Given the description of an element on the screen output the (x, y) to click on. 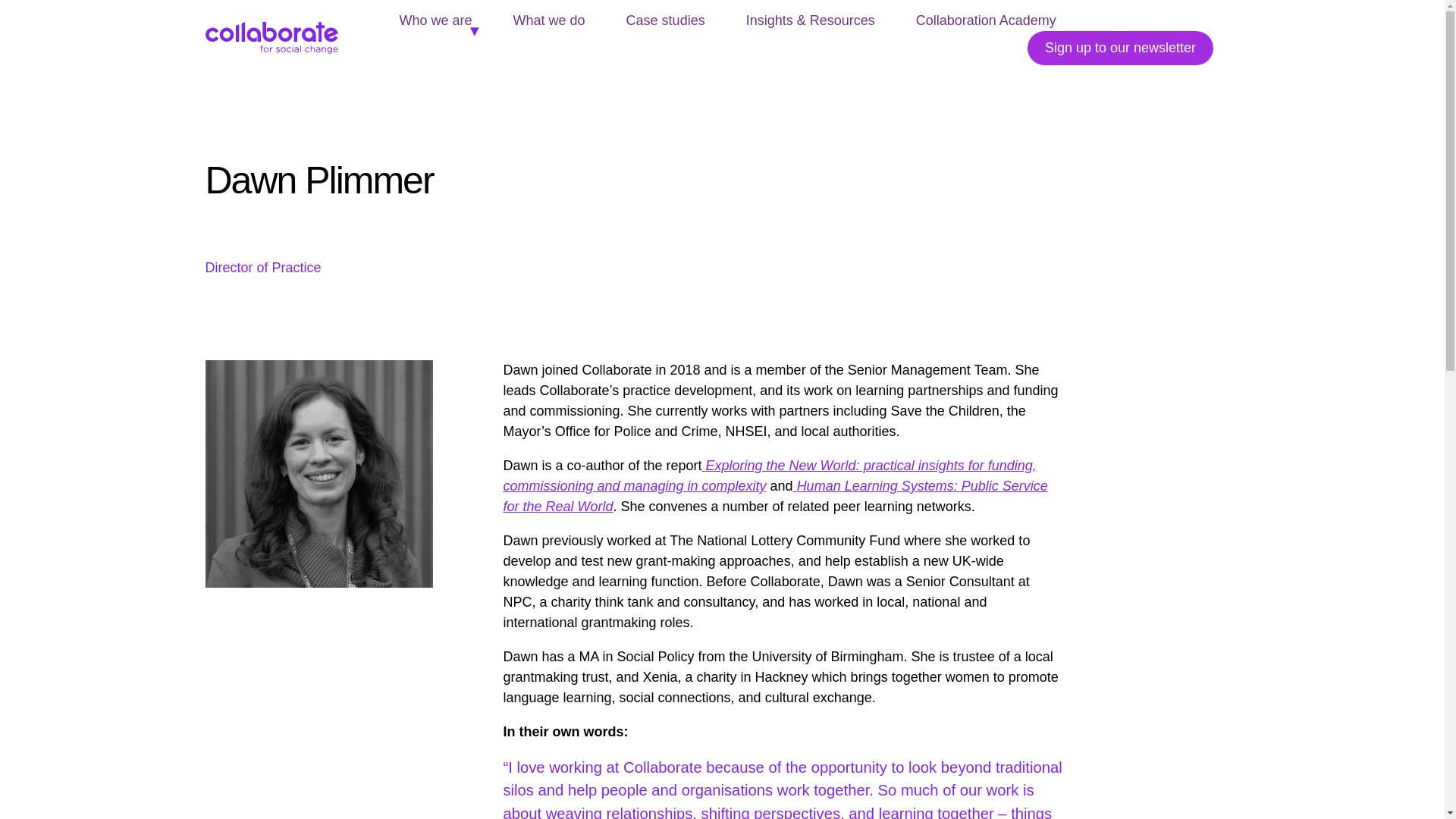
What we do (549, 20)
Case studies (665, 20)
 Human Learning Systems: Public Service for the Real World (774, 496)
Collaboration Academy (985, 20)
Sign up to our newsletter (1119, 48)
Who we are (436, 20)
